Given the description of an element on the screen output the (x, y) to click on. 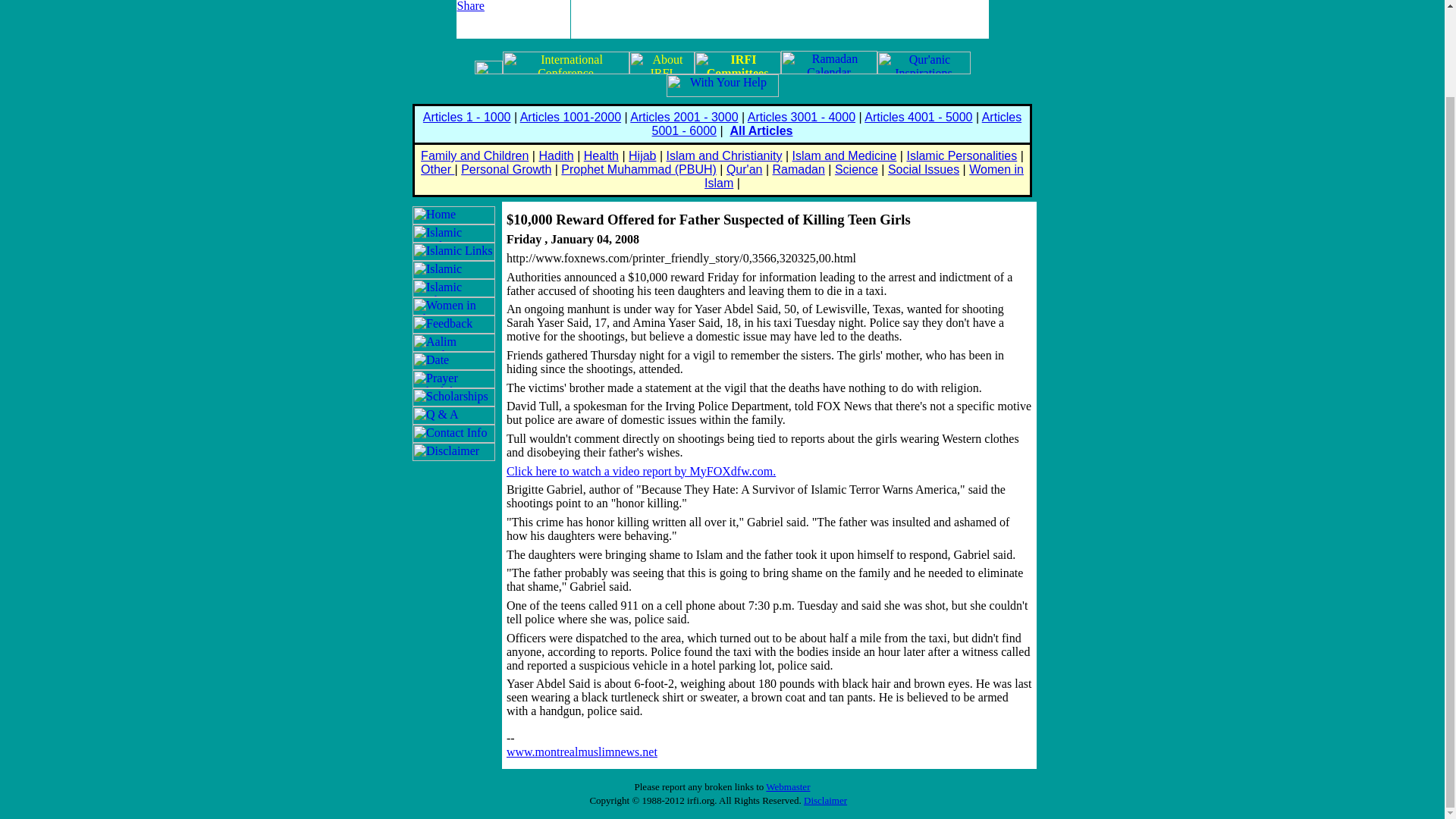
Articles 2001 - 3000 (684, 116)
Islam and Christianity (724, 155)
Ramadan (797, 169)
Articles 1001-2000 (570, 116)
Articles 1 - 1000 (467, 116)
Articles 3001 - 4000 (802, 116)
Islamic Personalities (960, 155)
All Articles (760, 130)
Social Issues (923, 169)
Hijab (642, 155)
Articles 4001 - 5000 (918, 116)
Personal Growth (506, 169)
Other (437, 169)
Qur'an (744, 169)
Science (855, 169)
